Given the description of an element on the screen output the (x, y) to click on. 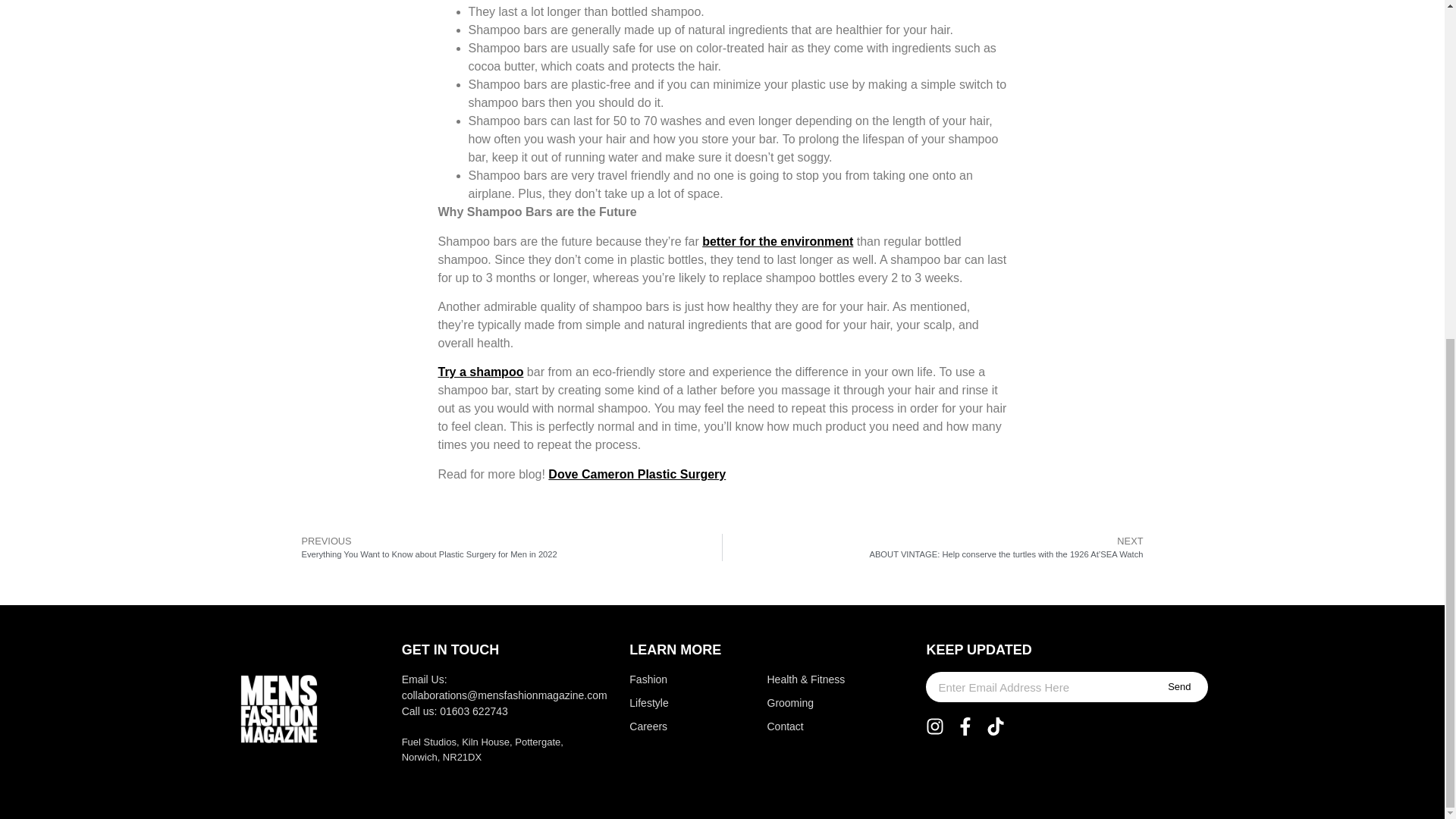
Dove Cameron Plastic Surgery (636, 473)
better for the environment (777, 241)
Lifestyle (667, 703)
Fashion (667, 679)
Try a shampoo (481, 371)
